Given the description of an element on the screen output the (x, y) to click on. 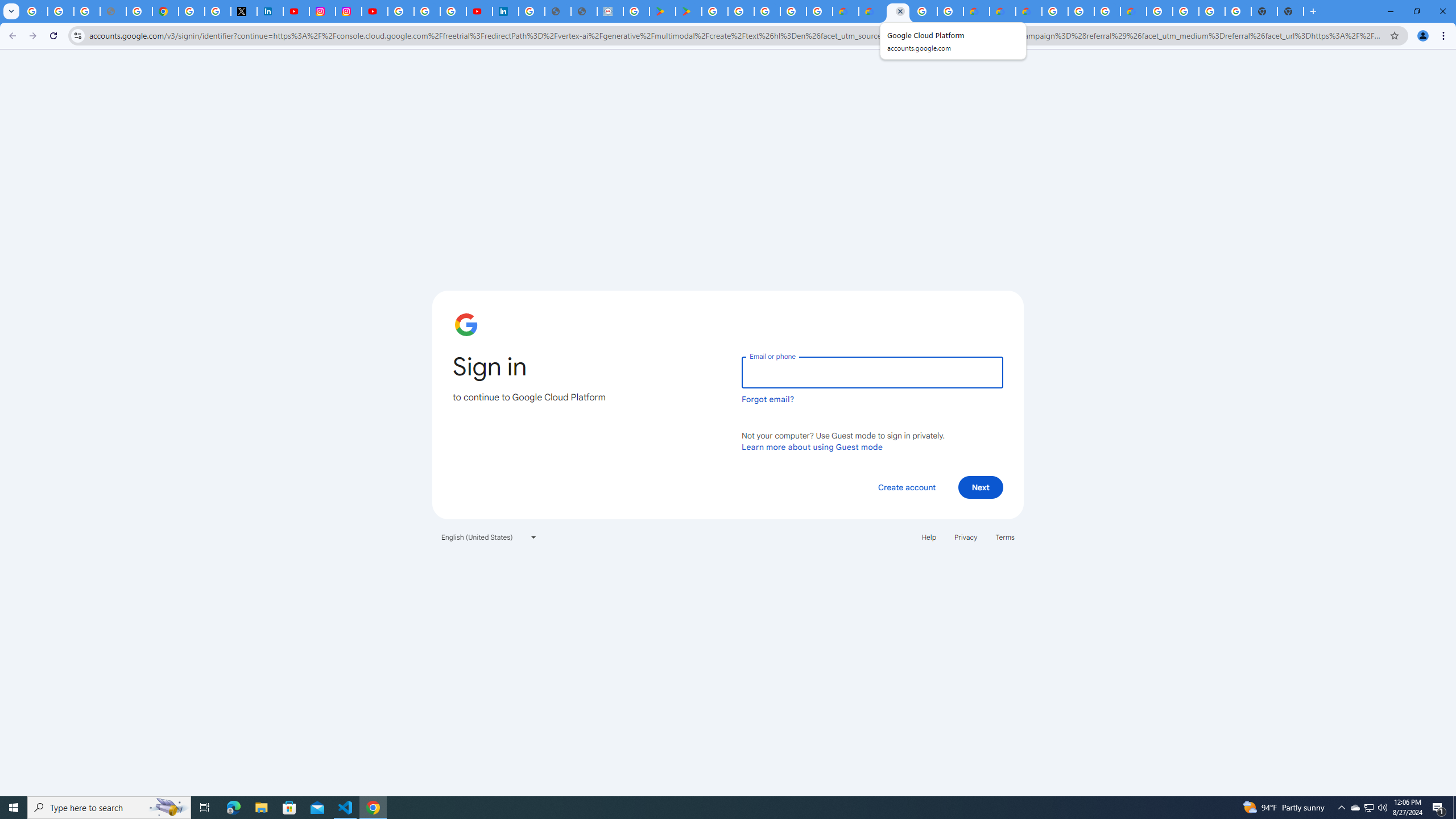
Create account (905, 486)
Forgot email? (767, 398)
X (243, 11)
Sign in - Google Accounts (191, 11)
support.google.com - Network error (112, 11)
New Tab (1290, 11)
PAW Patrol Rescue World - Apps on Google Play (689, 11)
